Given the description of an element on the screen output the (x, y) to click on. 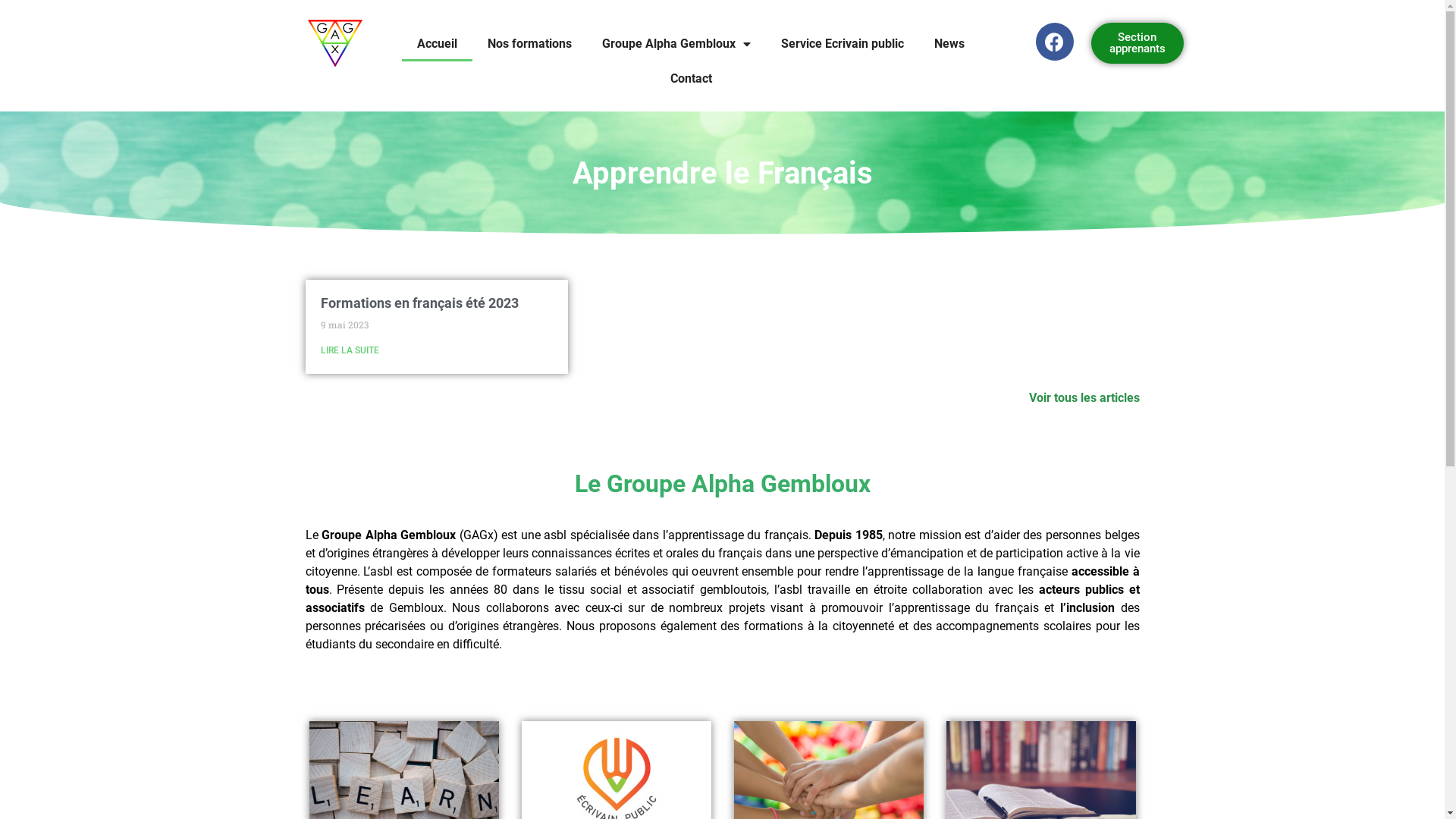
Groupe Alpha Gembloux Element type: text (675, 43)
LIRE LA SUITE Element type: text (349, 350)
Service Ecrivain public Element type: text (842, 43)
News Element type: text (949, 43)
Accueil Element type: text (436, 43)
Voir tous les articles Element type: text (1083, 397)
Contact Element type: text (691, 78)
Nos formations Element type: text (529, 43)
Section apprenants Element type: text (1137, 42)
